Given the description of an element on the screen output the (x, y) to click on. 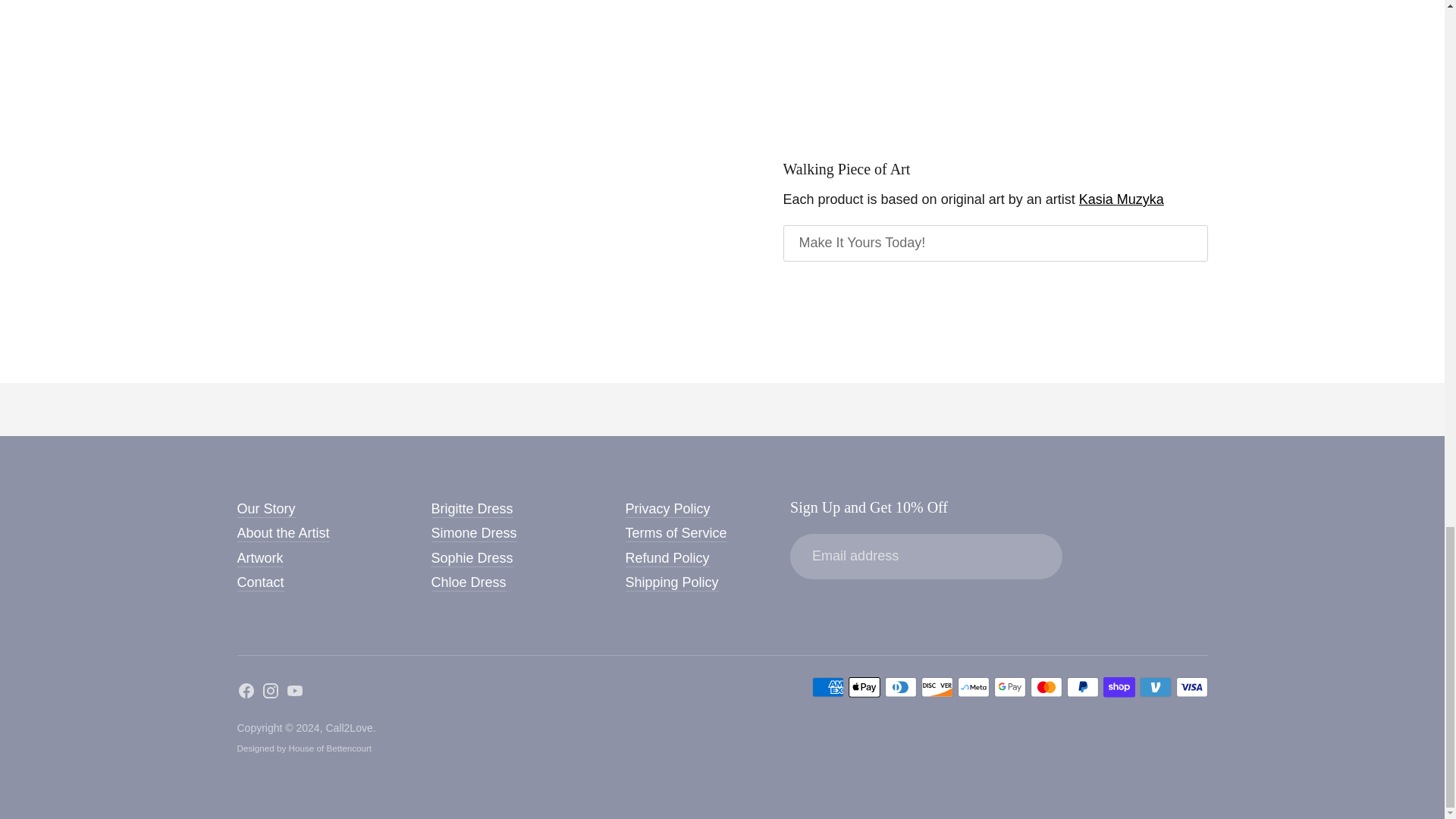
Meta Pay (972, 686)
Venmo (1154, 686)
Shop Pay (1118, 686)
PayPal (1081, 686)
Google Pay (1008, 686)
Visa (1190, 686)
Diners Club (899, 686)
Discover (936, 686)
Mastercard (1045, 686)
American Express (826, 686)
